Given the description of an element on the screen output the (x, y) to click on. 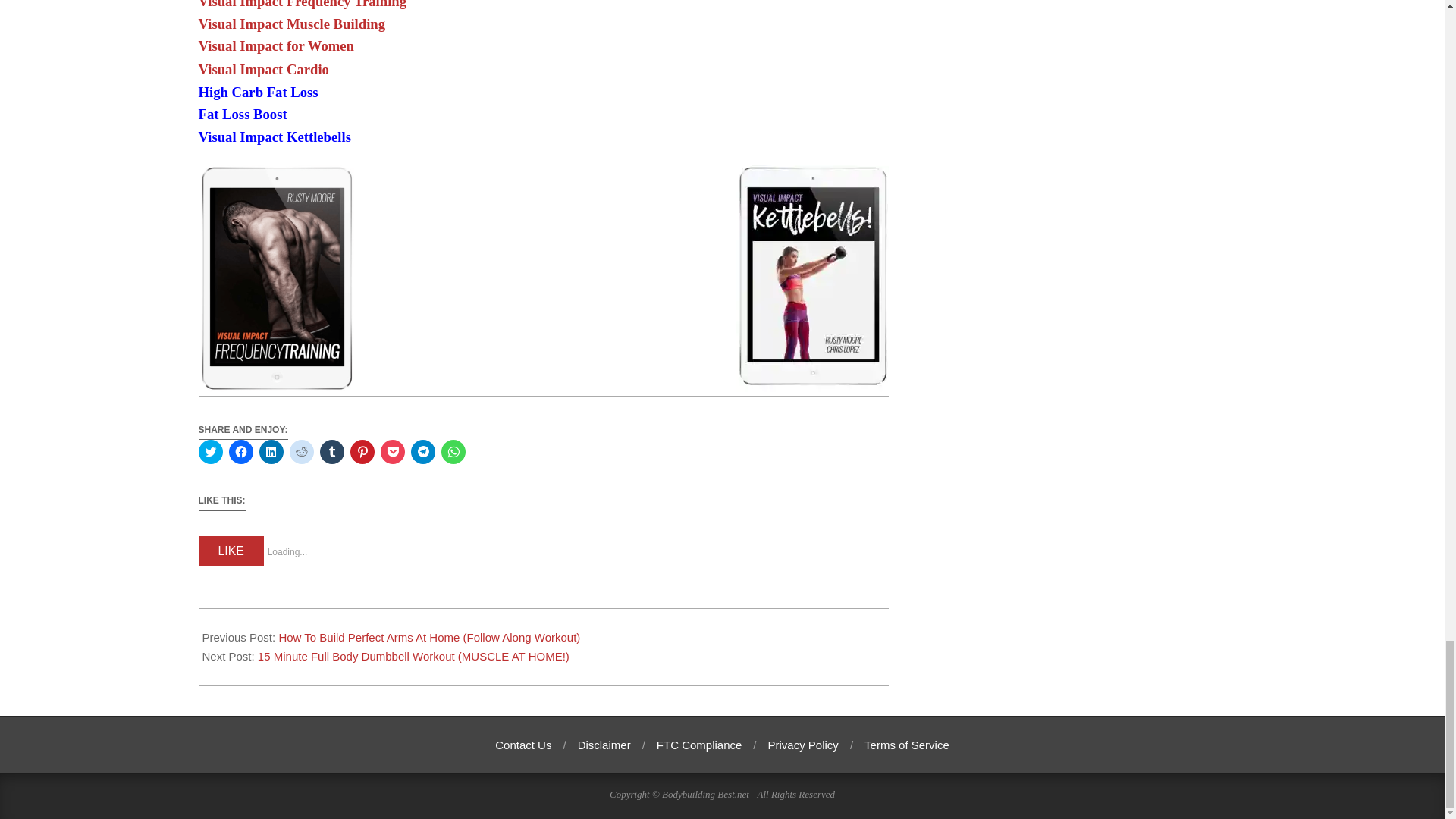
Click to share on Facebook (240, 451)
Click to share on Reddit (301, 451)
Visual Impact for Women (275, 45)
Fat Loss Boost (242, 114)
Visual Impact Kettlebells (274, 136)
Click to share on Telegram (422, 451)
Click to share on Tumblr (331, 451)
Visual Impact Frequency Training (302, 4)
Click to share on Pinterest (362, 451)
Click to share on Pocket (392, 451)
Click to share on Twitter (210, 451)
High Carb Fat Loss (258, 91)
Visual Impact Muscle Building (291, 23)
Visual Impact Cardio (263, 68)
Click to share on WhatsApp (453, 451)
